Given the description of an element on the screen output the (x, y) to click on. 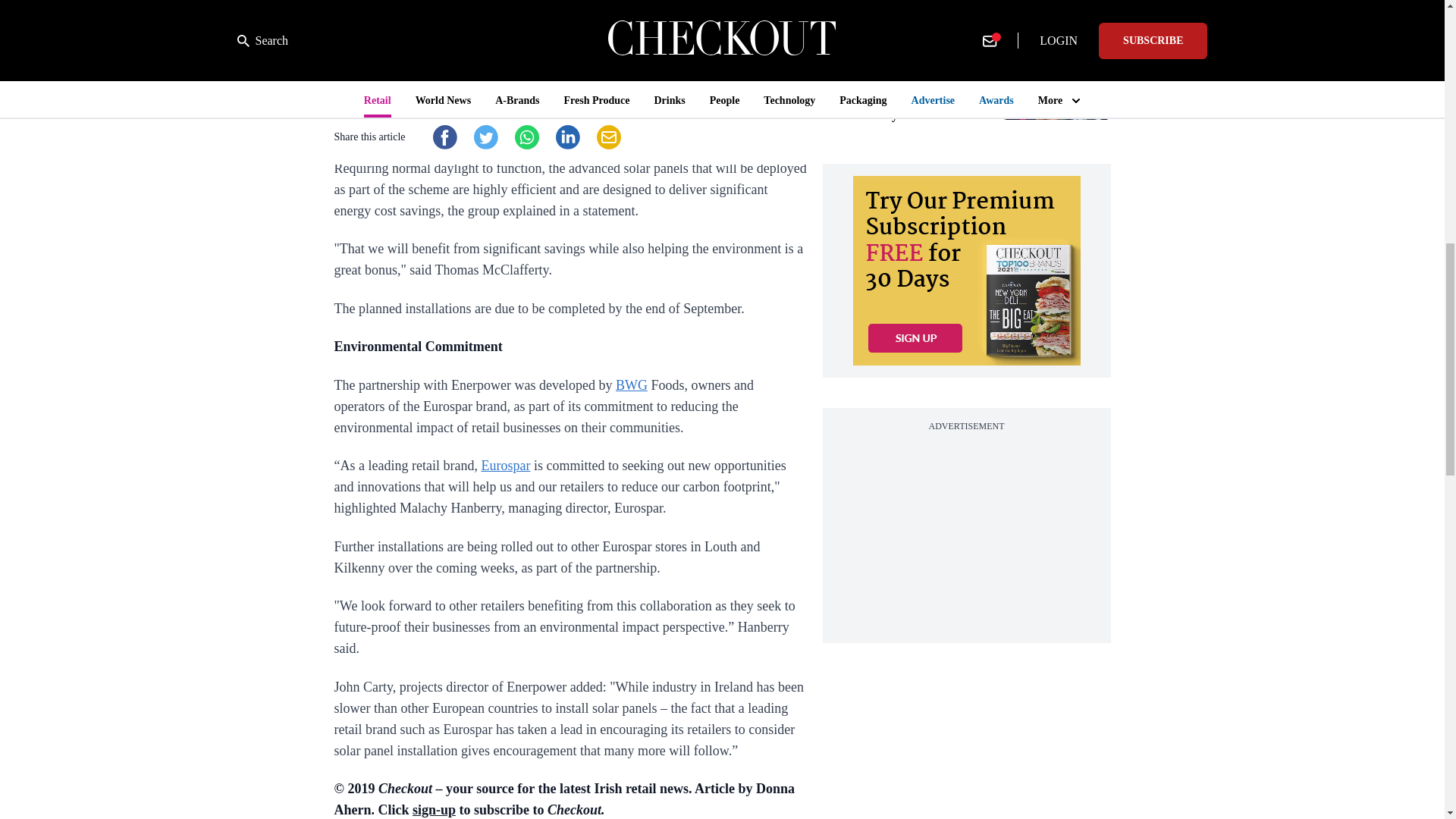
Eurospar (504, 465)
BWG (631, 385)
